Given the description of an element on the screen output the (x, y) to click on. 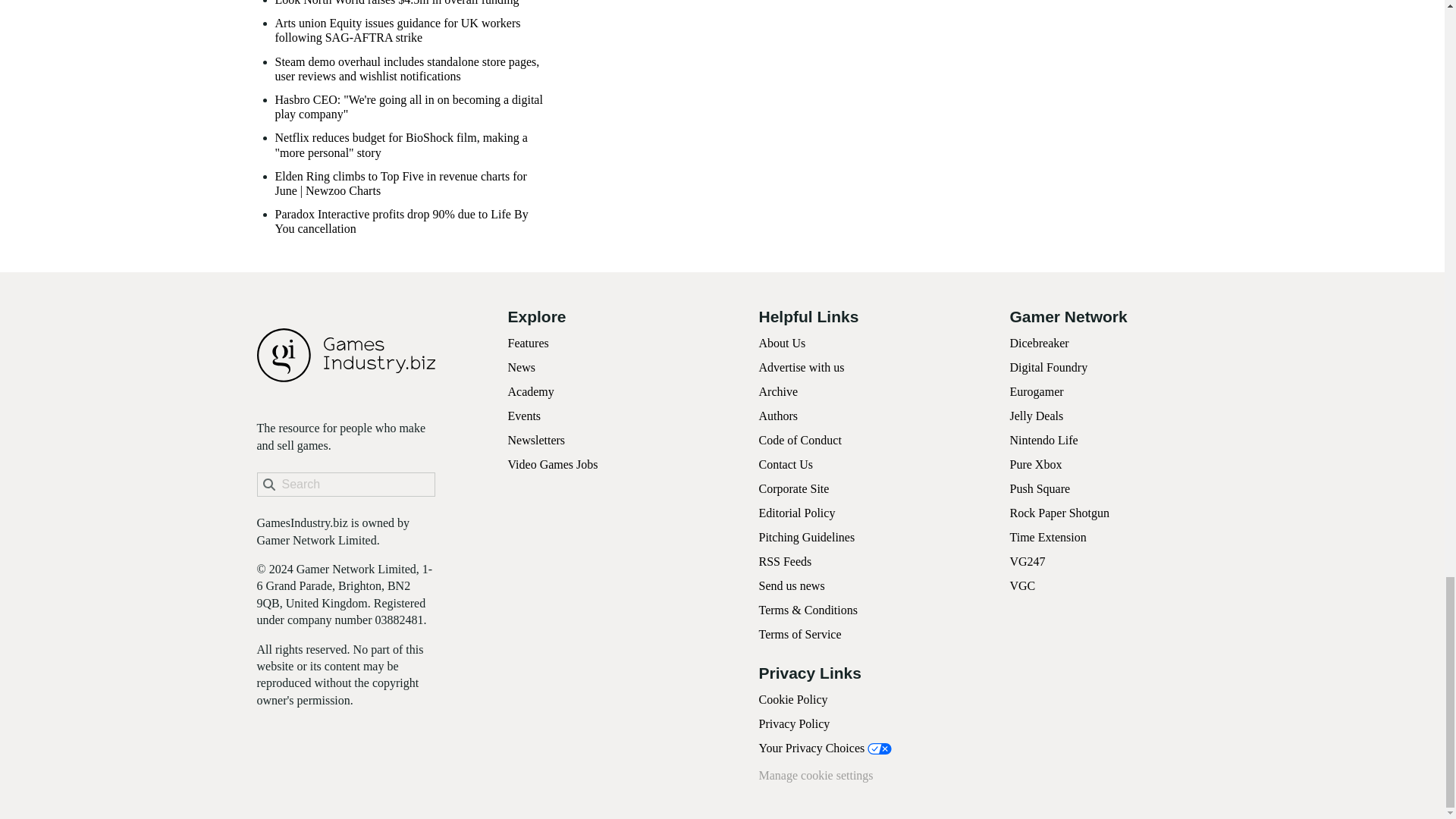
News (521, 367)
Video Games Jobs (553, 463)
Features (528, 342)
Academy (531, 391)
Events (524, 415)
Newsletters (537, 440)
About Us (781, 342)
Advertise with us (801, 367)
